Given the description of an element on the screen output the (x, y) to click on. 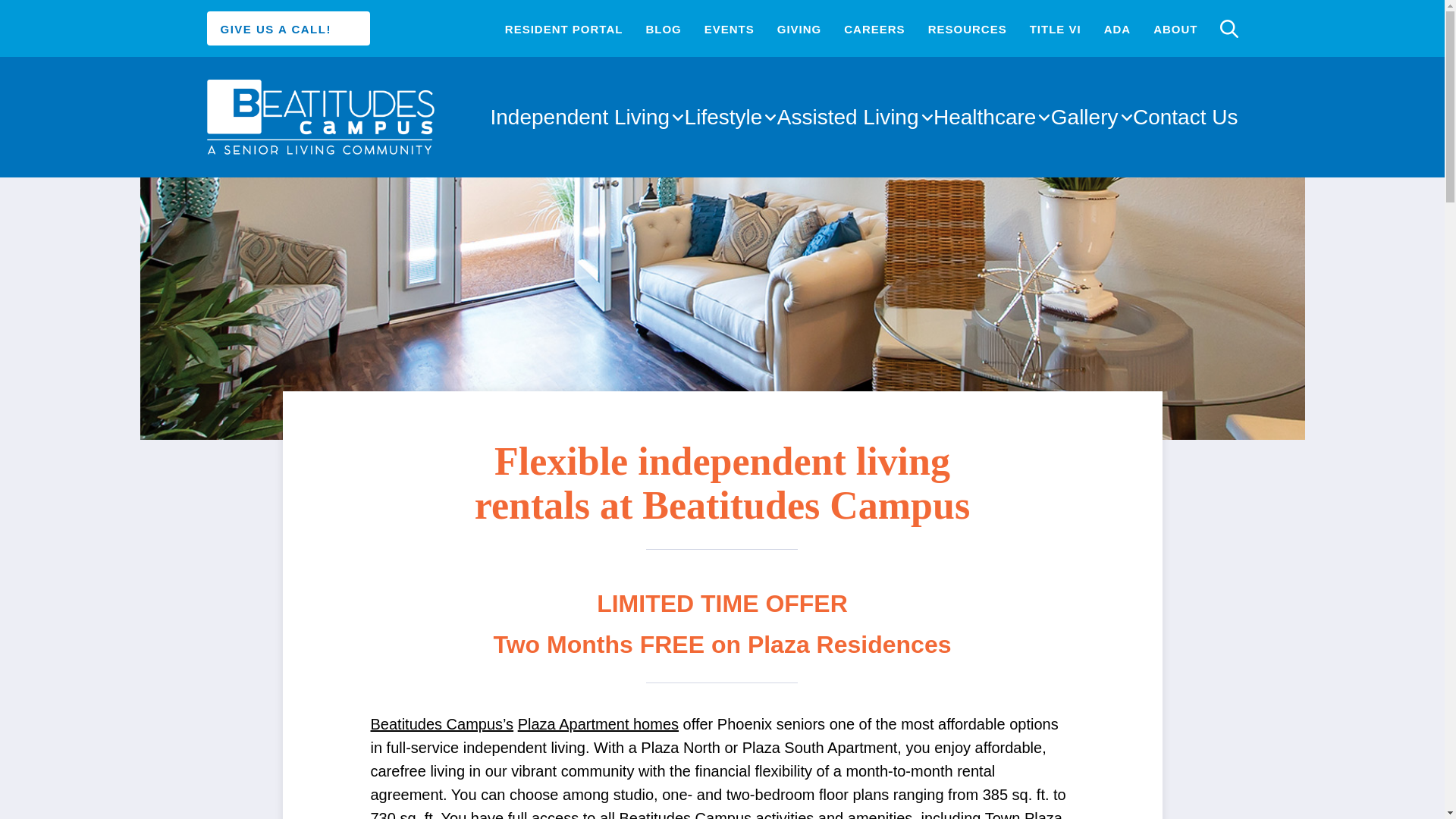
Contact Us (1185, 116)
Healthcare (984, 116)
EVENTS (729, 29)
Gallery (1084, 116)
Assisted Living (847, 116)
ABOUT (1174, 29)
CAREERS (874, 29)
TITLE VI (1055, 29)
ADA (1117, 29)
Independent Living (579, 116)
